Given the description of an element on the screen output the (x, y) to click on. 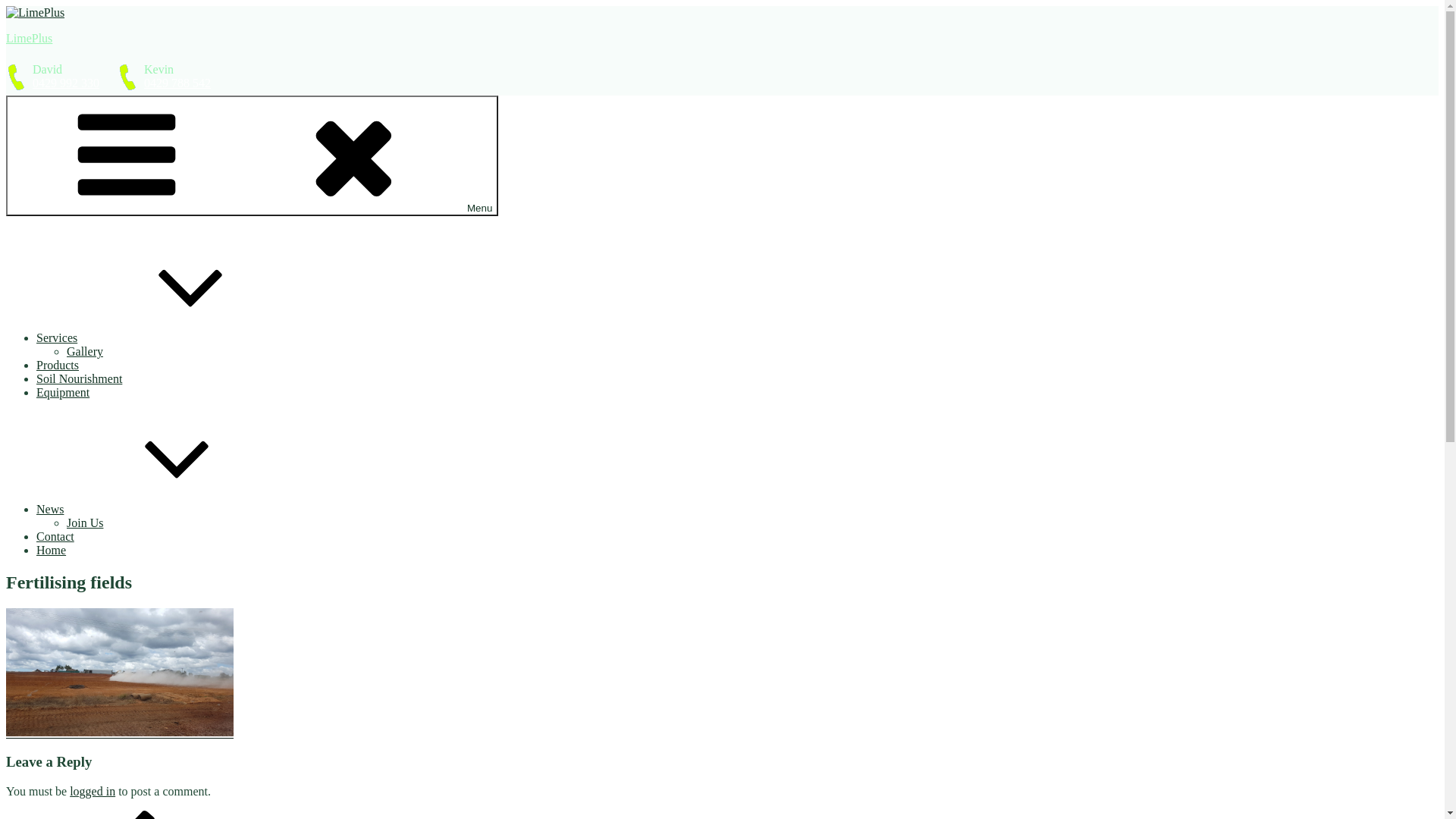
Soil Nourishment Element type: text (79, 378)
LimePlus Element type: text (29, 37)
logged in Element type: text (92, 790)
Contact Element type: text (55, 536)
News Element type: text (163, 508)
Services Element type: text (170, 337)
Join Us Element type: text (84, 522)
Equipment Element type: text (62, 391)
0429 992 330 Element type: text (65, 82)
0429 788 542 Element type: text (177, 82)
Skip to content Element type: text (5, 5)
Home Element type: text (50, 549)
Gallery Element type: text (84, 351)
Menu Element type: text (252, 155)
Products Element type: text (57, 364)
